Given the description of an element on the screen output the (x, y) to click on. 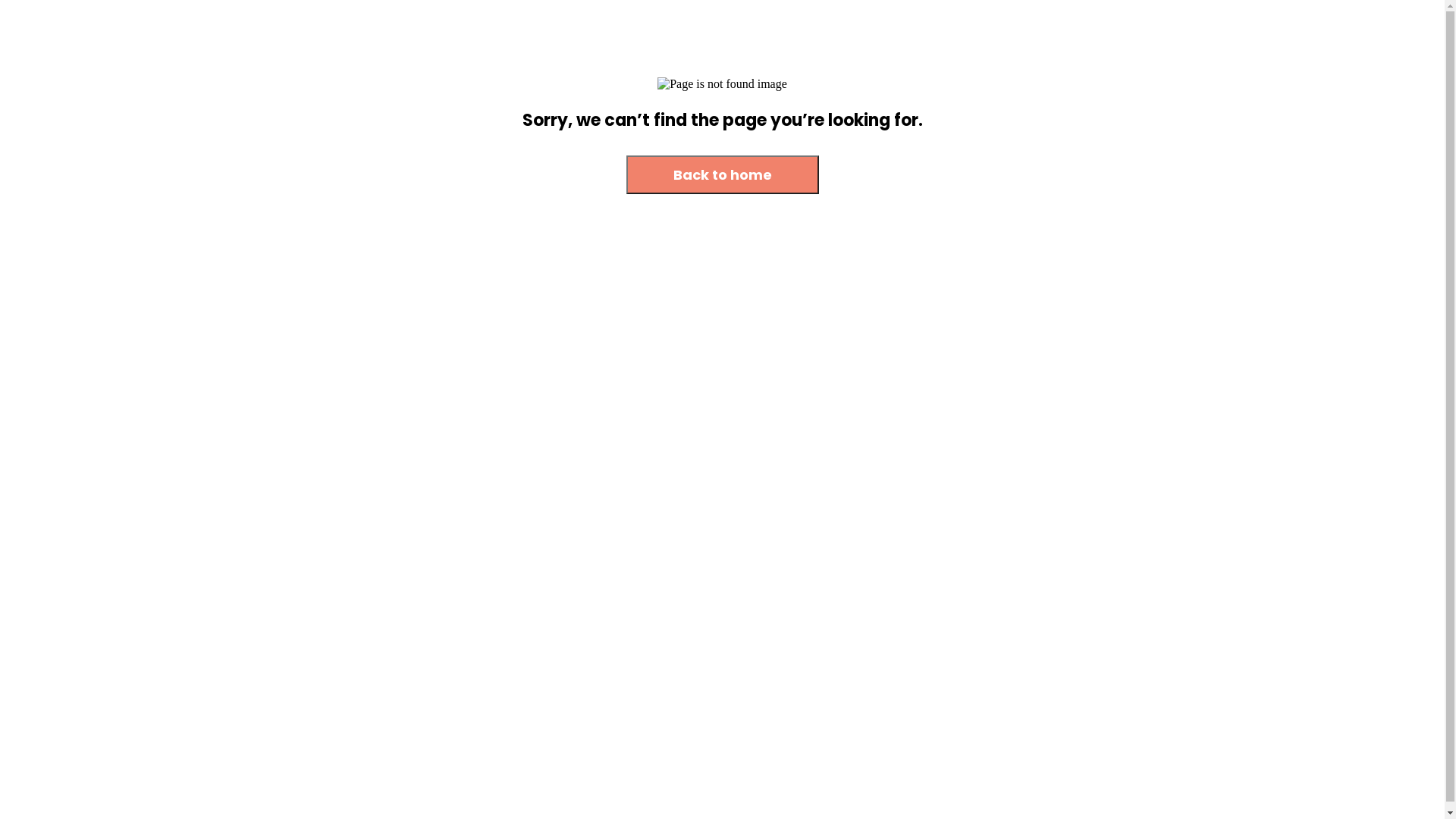
Back to home Element type: text (722, 174)
Back to home Element type: text (722, 175)
